Given the description of an element on the screen output the (x, y) to click on. 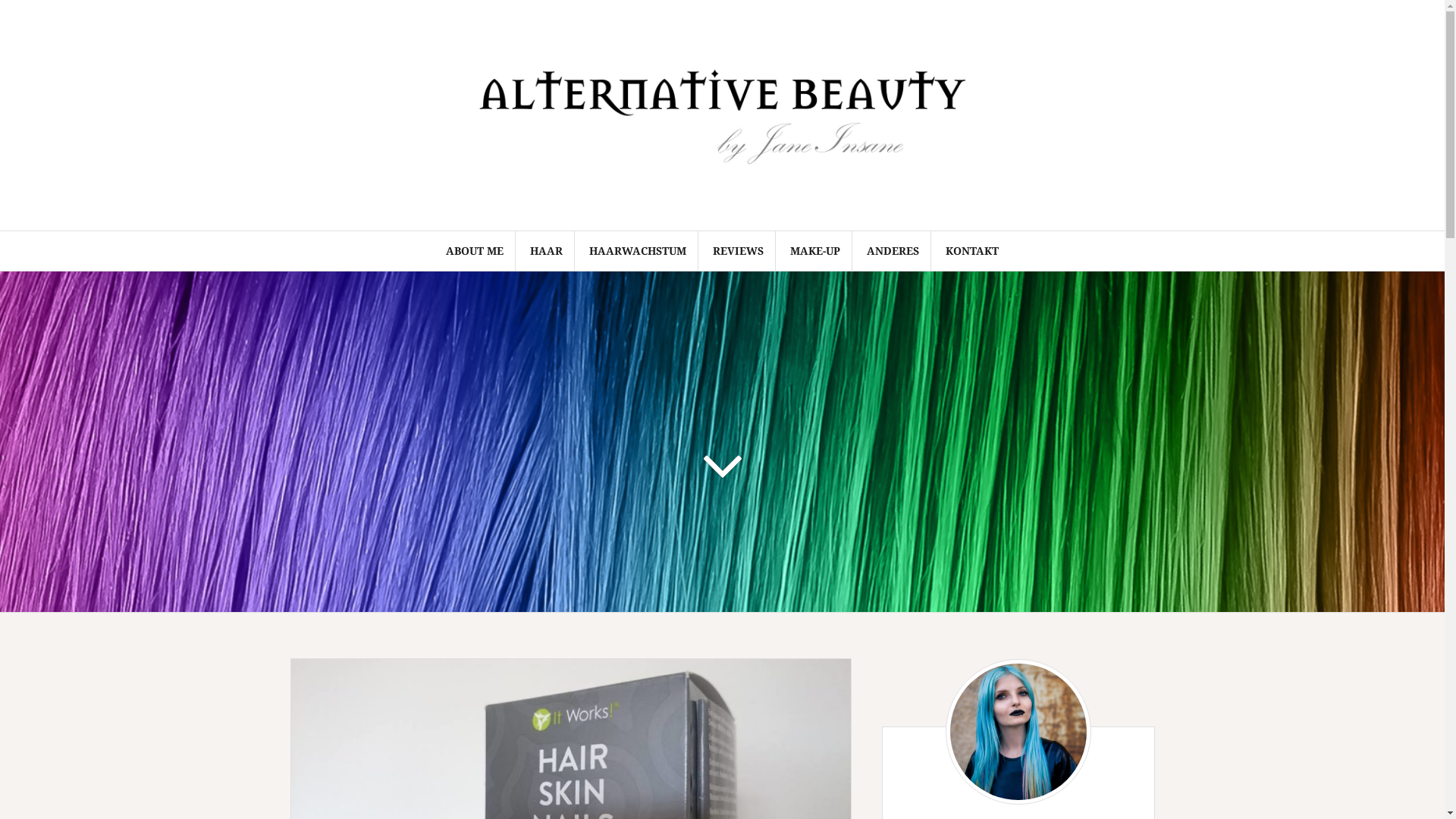
KONTAKT Element type: text (971, 250)
ABOUT ME Element type: text (474, 250)
REVIEWS Element type: text (737, 250)
MAKE-UP Element type: text (815, 250)
HAARWACHSTUM Element type: text (637, 250)
Springe zum Inhalt Element type: text (0, 0)
ANDERES Element type: text (892, 250)
HAAR Element type: text (546, 250)
